Given the description of an element on the screen output the (x, y) to click on. 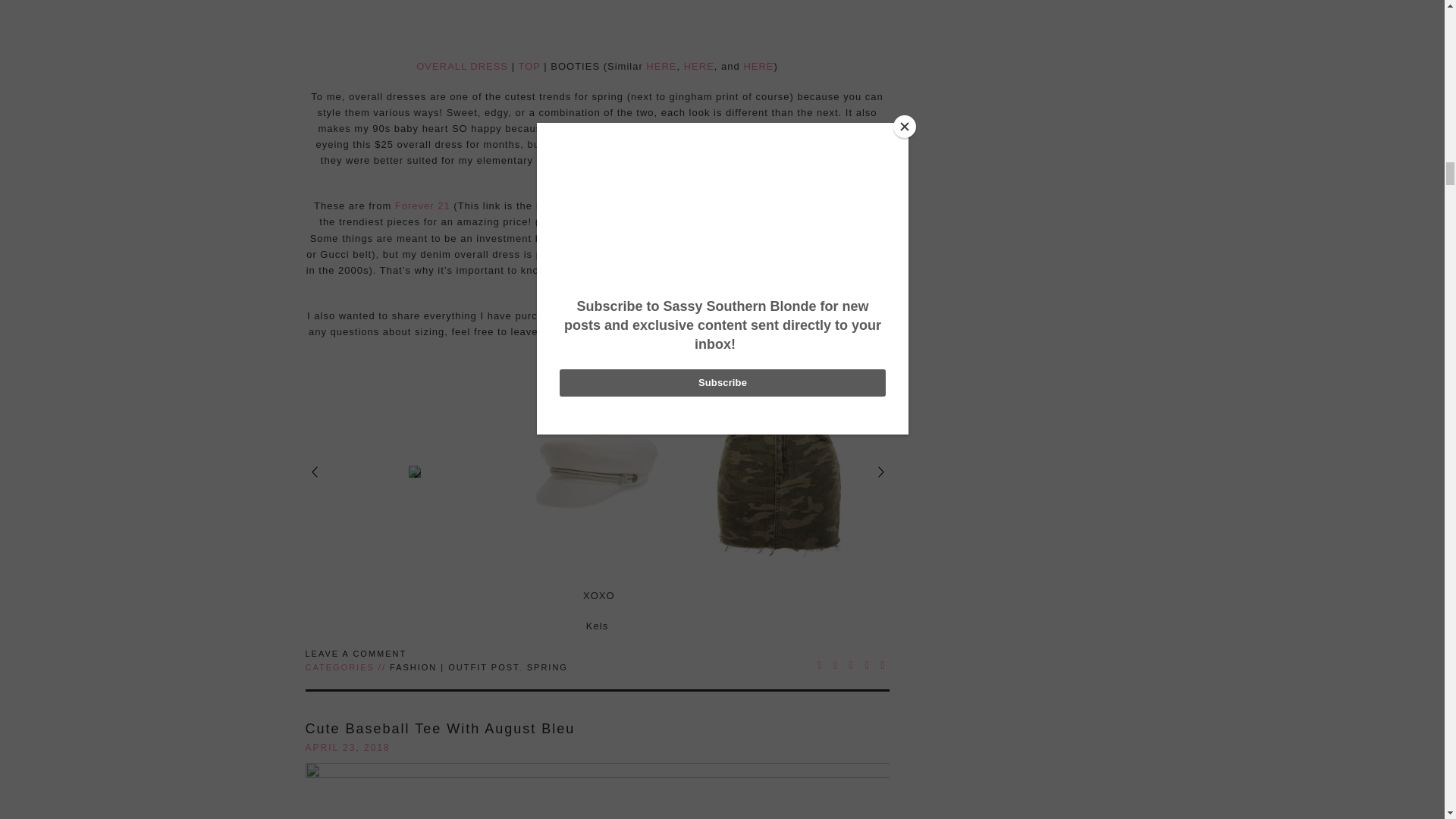
Share this post on Twitter! (835, 665)
HERE (757, 66)
HERE (661, 66)
Forever 21 (421, 205)
HERE (699, 66)
OVERALL DRESS (462, 66)
TOP (529, 66)
